Given the description of an element on the screen output the (x, y) to click on. 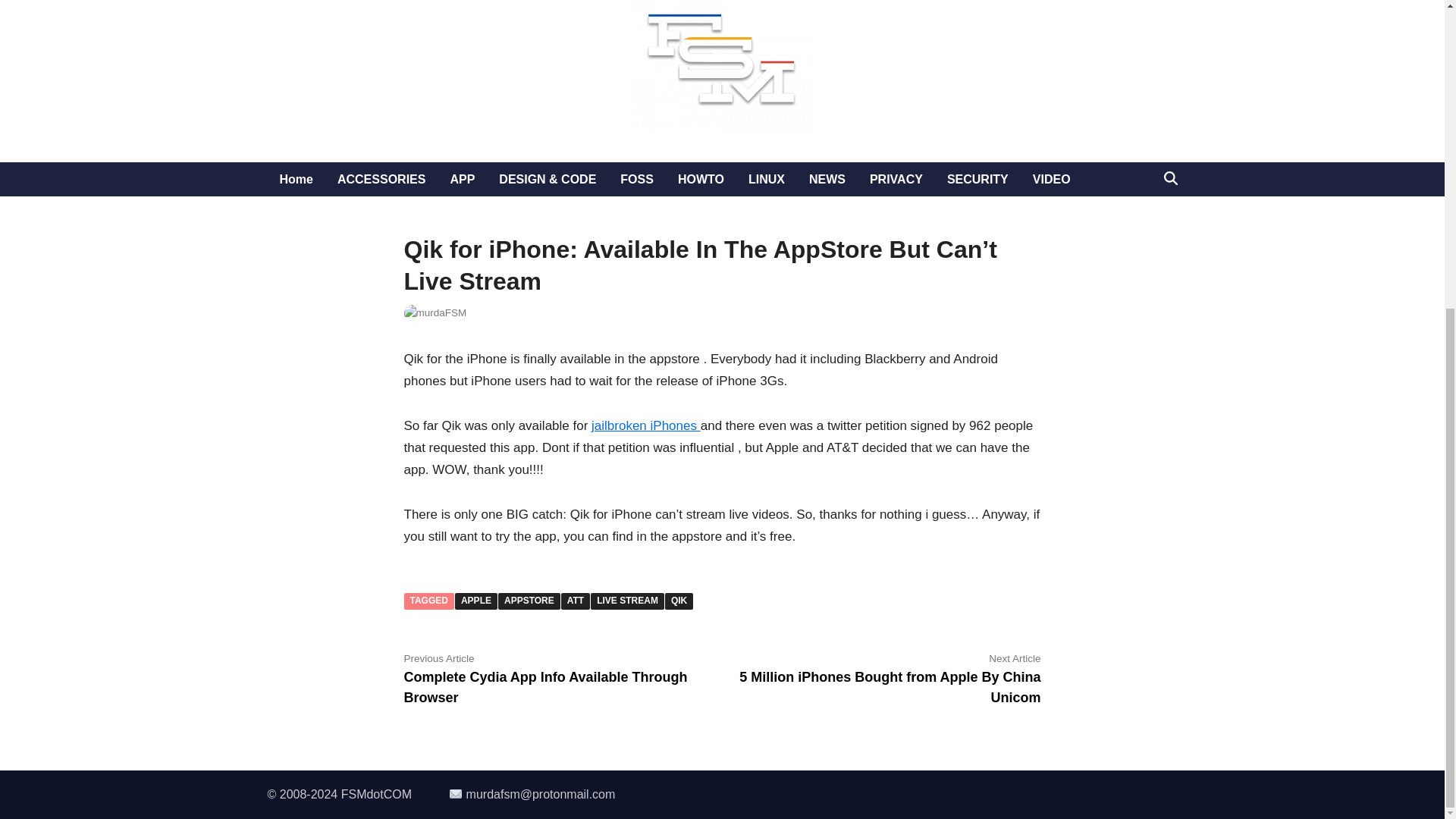
VIDEO (1051, 179)
NEWS (826, 179)
PRIVACY (895, 179)
ACCESSORIES (381, 179)
QIK (679, 600)
LINUX (766, 179)
ATT (574, 600)
Home (295, 179)
HOWTO (700, 179)
